Given the description of an element on the screen output the (x, y) to click on. 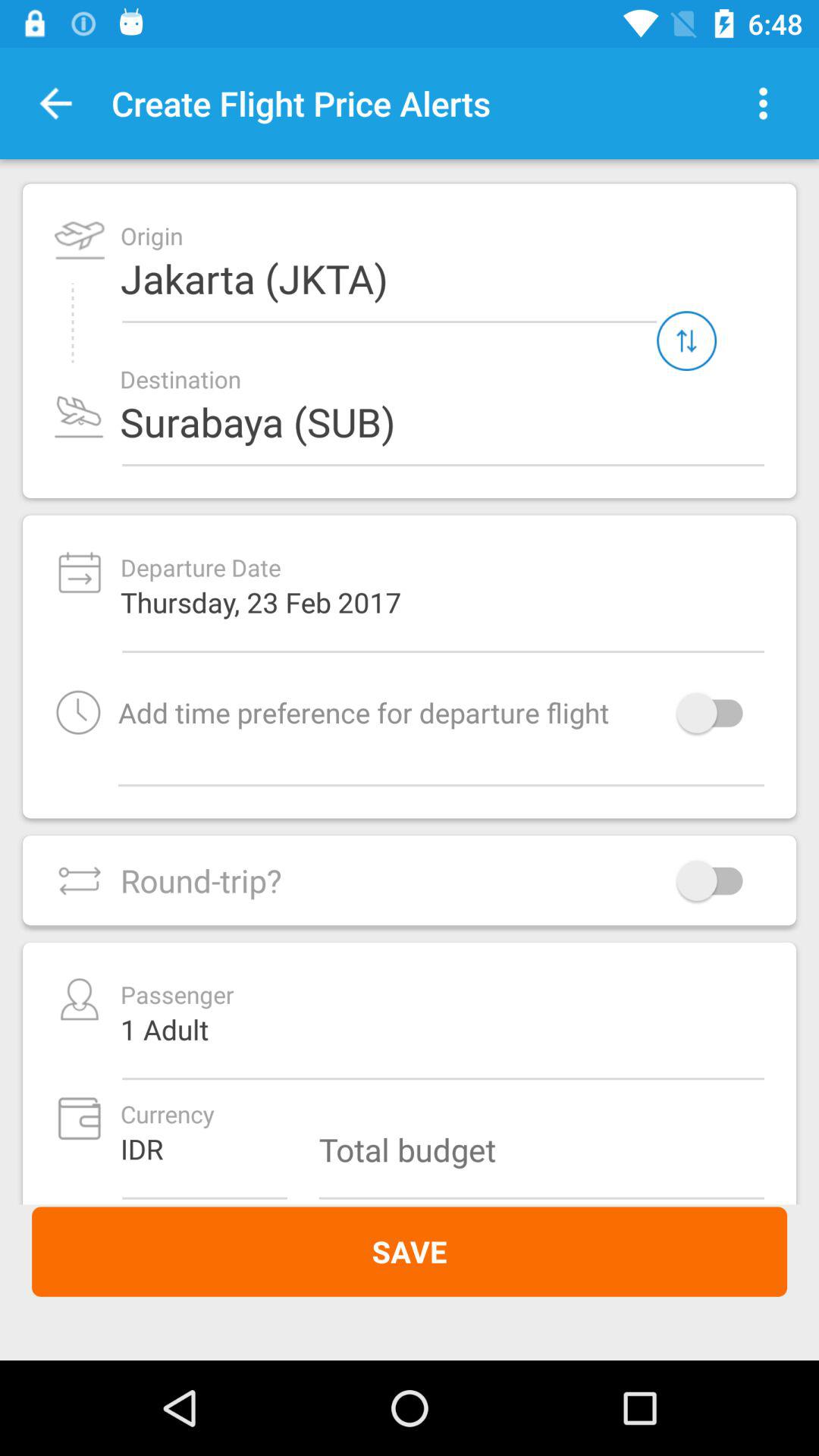
more options button (763, 103)
